Given the description of an element on the screen output the (x, y) to click on. 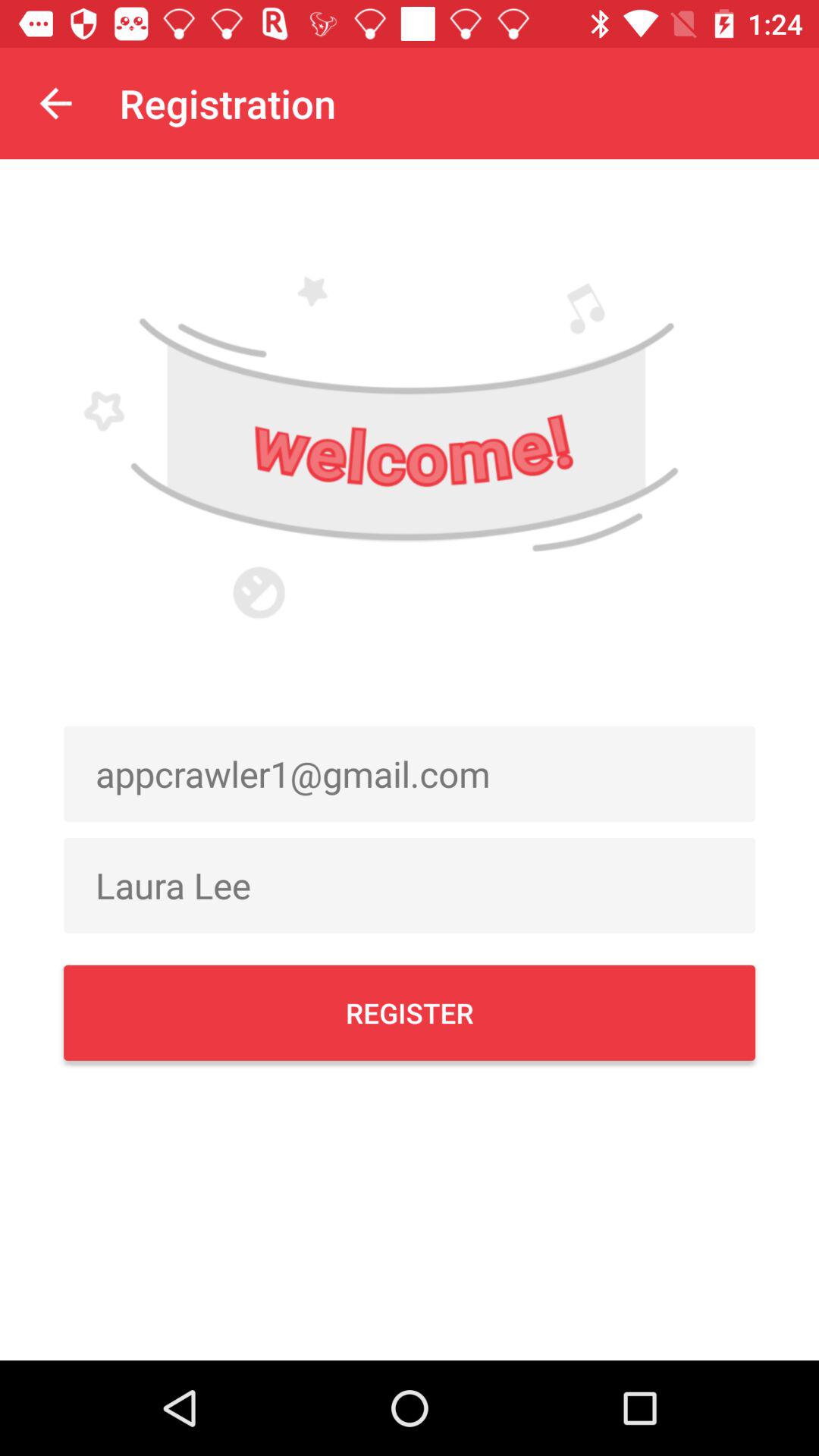
scroll until the register icon (409, 1012)
